Given the description of an element on the screen output the (x, y) to click on. 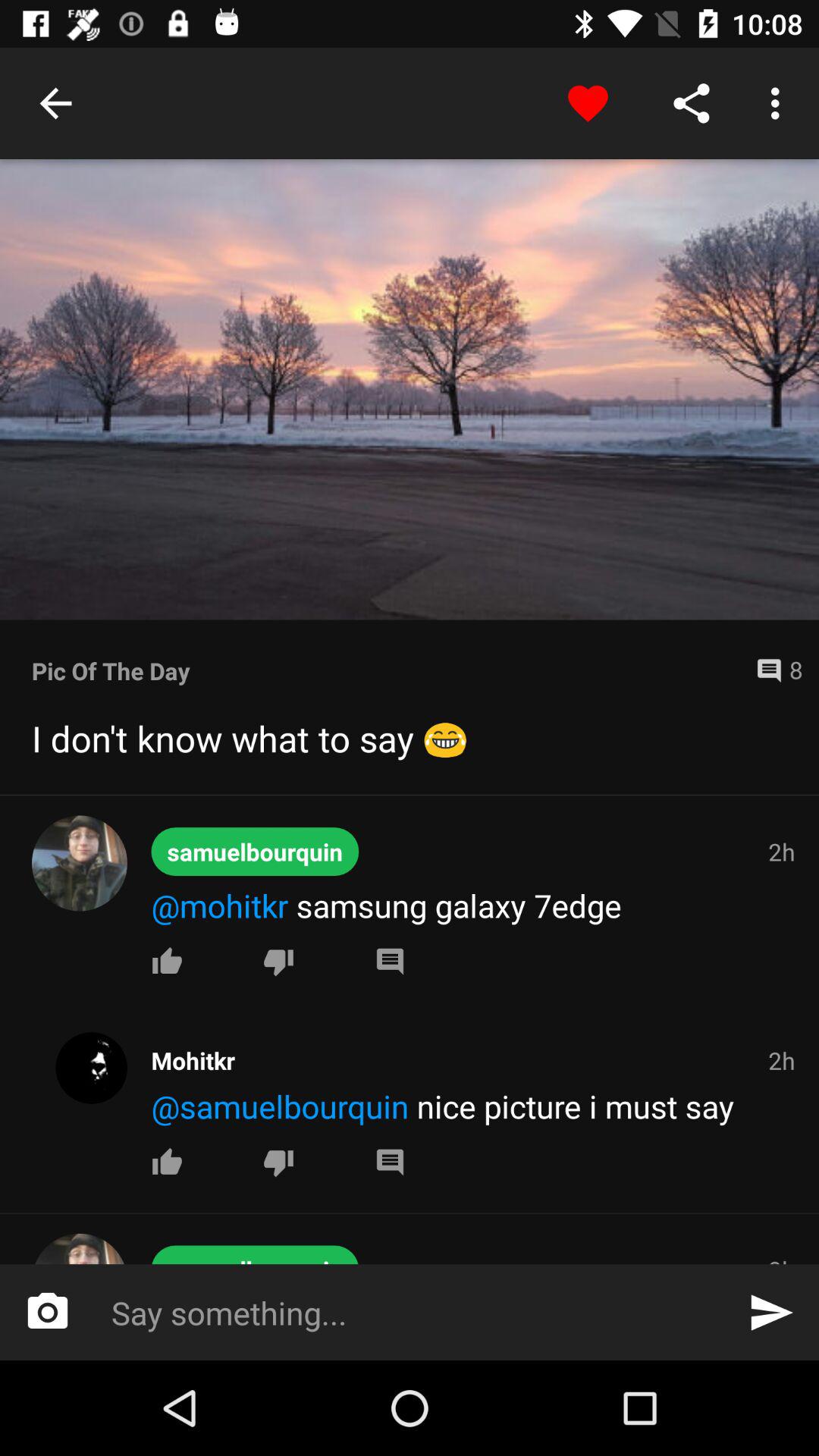
open the icon below the mohitkr icon (475, 1105)
